Given the description of an element on the screen output the (x, y) to click on. 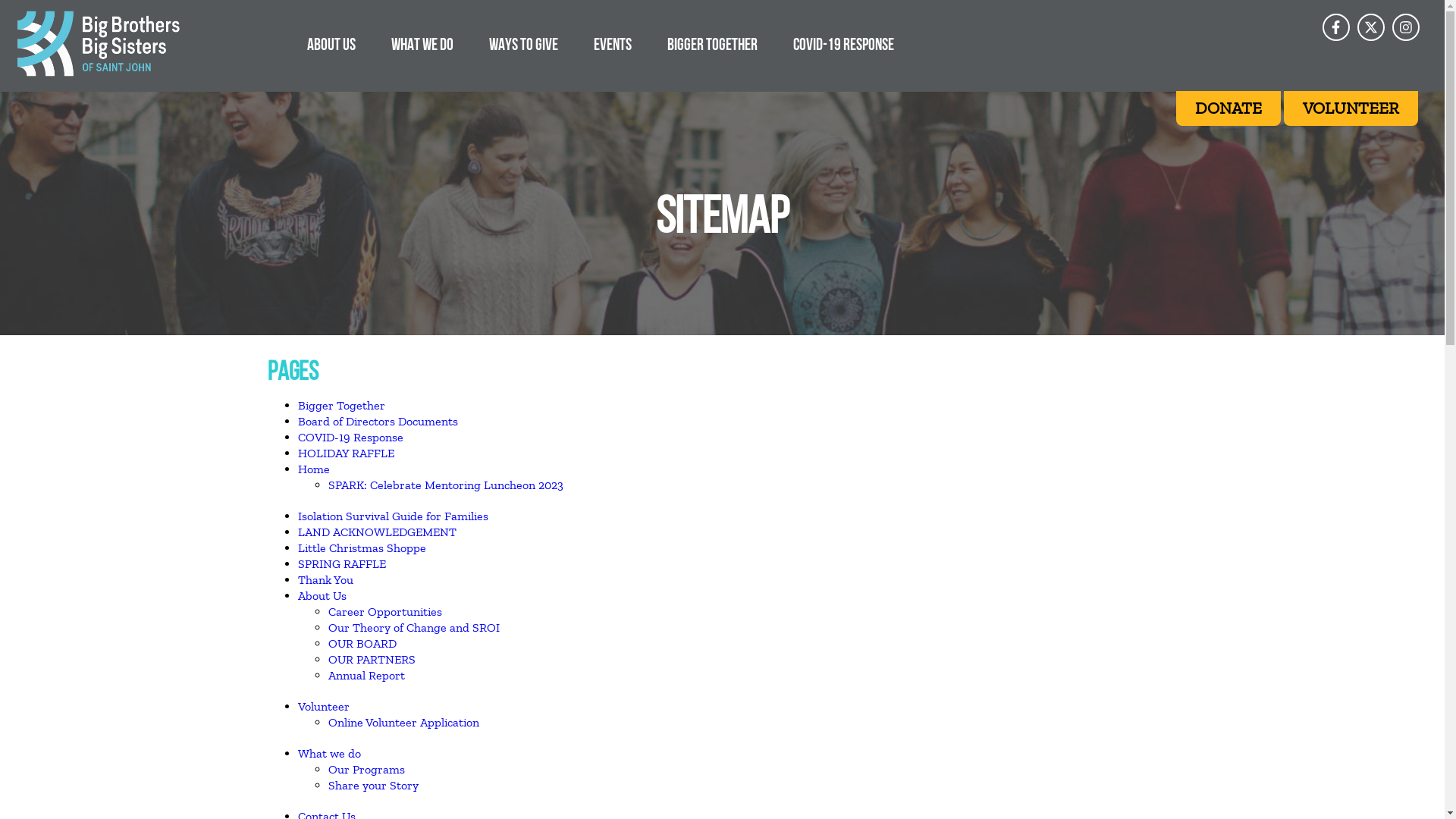
Little Christmas Shoppe Element type: text (361, 547)
DONATE Element type: text (1228, 108)
VOLUNTEER Element type: text (1350, 108)
WAYS TO GIVE Element type: text (523, 44)
Share your Story Element type: text (372, 785)
ABOUT US Element type: text (330, 44)
SPRING RAFFLE Element type: text (341, 563)
BIGGER TOGETHER Element type: text (712, 44)
Home Element type: text (313, 468)
COVID-19 Response Element type: text (349, 436)
Isolation Survival Guide for Families Element type: text (392, 515)
Bigger Together Element type: text (340, 405)
Annual Report Element type: text (365, 675)
Career Opportunities Element type: text (384, 611)
What we do Element type: text (328, 753)
OUR PARTNERS Element type: text (370, 659)
EVENTS Element type: text (612, 44)
WHAT WE DO Element type: text (422, 44)
LAND ACKNOWLEDGEMENT Element type: text (376, 531)
Volunteer Element type: text (322, 706)
HOLIDAY RAFFLE Element type: text (345, 452)
About Us Element type: text (321, 595)
OUR BOARD Element type: text (361, 643)
COVID-19 RESPONSE Element type: text (843, 44)
SPARK: Celebrate Mentoring Luncheon 2023 Element type: text (444, 484)
Online Volunteer Application Element type: text (402, 722)
Our Theory of Change and SROI Element type: text (412, 627)
Board of Directors Documents Element type: text (377, 421)
Thank You Element type: text (324, 579)
Our Programs Element type: text (365, 769)
